Given the description of an element on the screen output the (x, y) to click on. 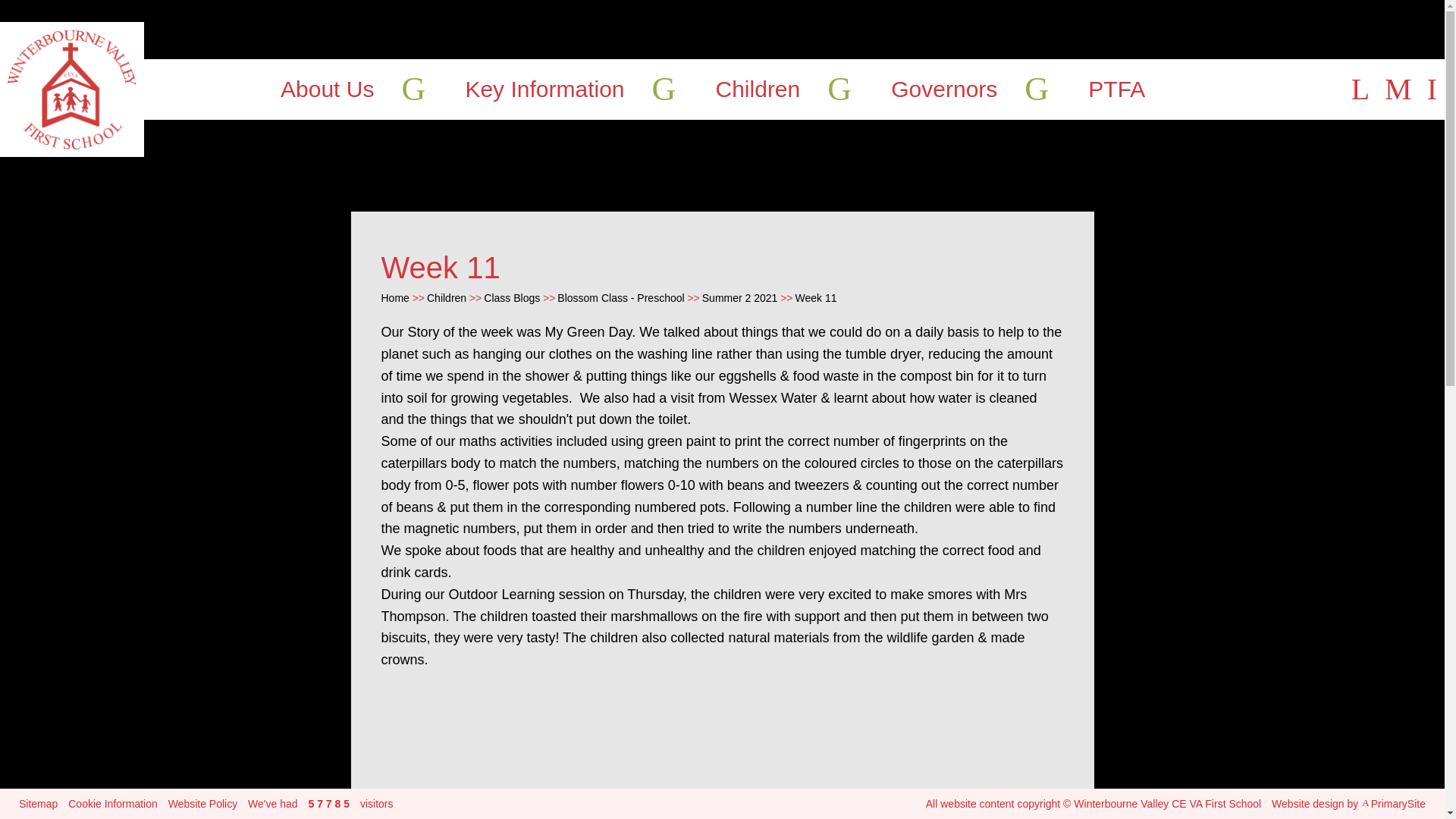
Children (758, 88)
Home Page (72, 89)
Key Information (544, 88)
About Us (327, 88)
